Given the description of an element on the screen output the (x, y) to click on. 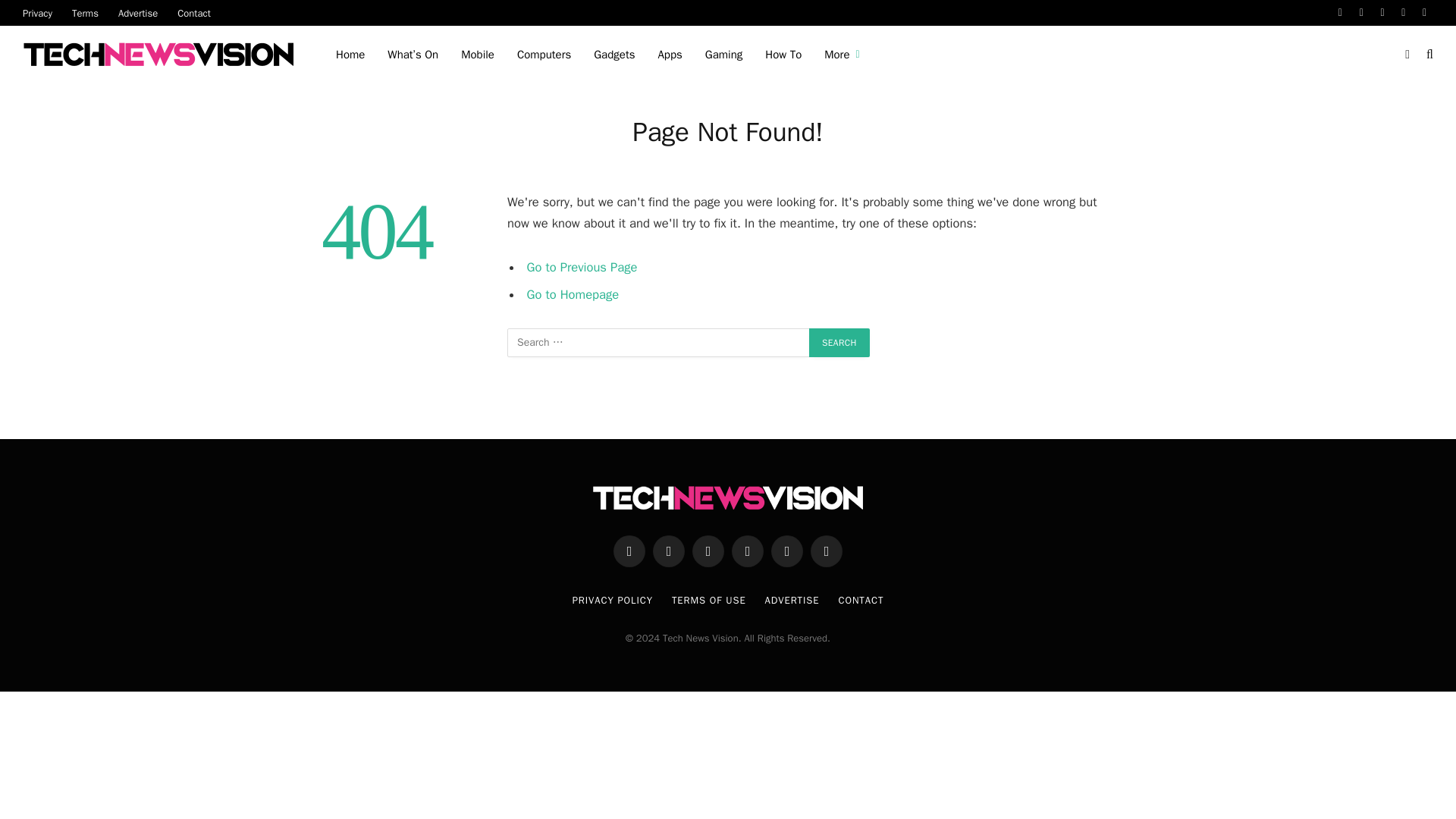
Switch to Dark Design - easier on eyes. (1406, 54)
Terms (84, 12)
Search (839, 342)
Gadgets (614, 54)
Contact (194, 12)
Privacy (37, 12)
Home (349, 54)
Computers (543, 54)
Tech News Vision (160, 54)
Search (839, 342)
